Given the description of an element on the screen output the (x, y) to click on. 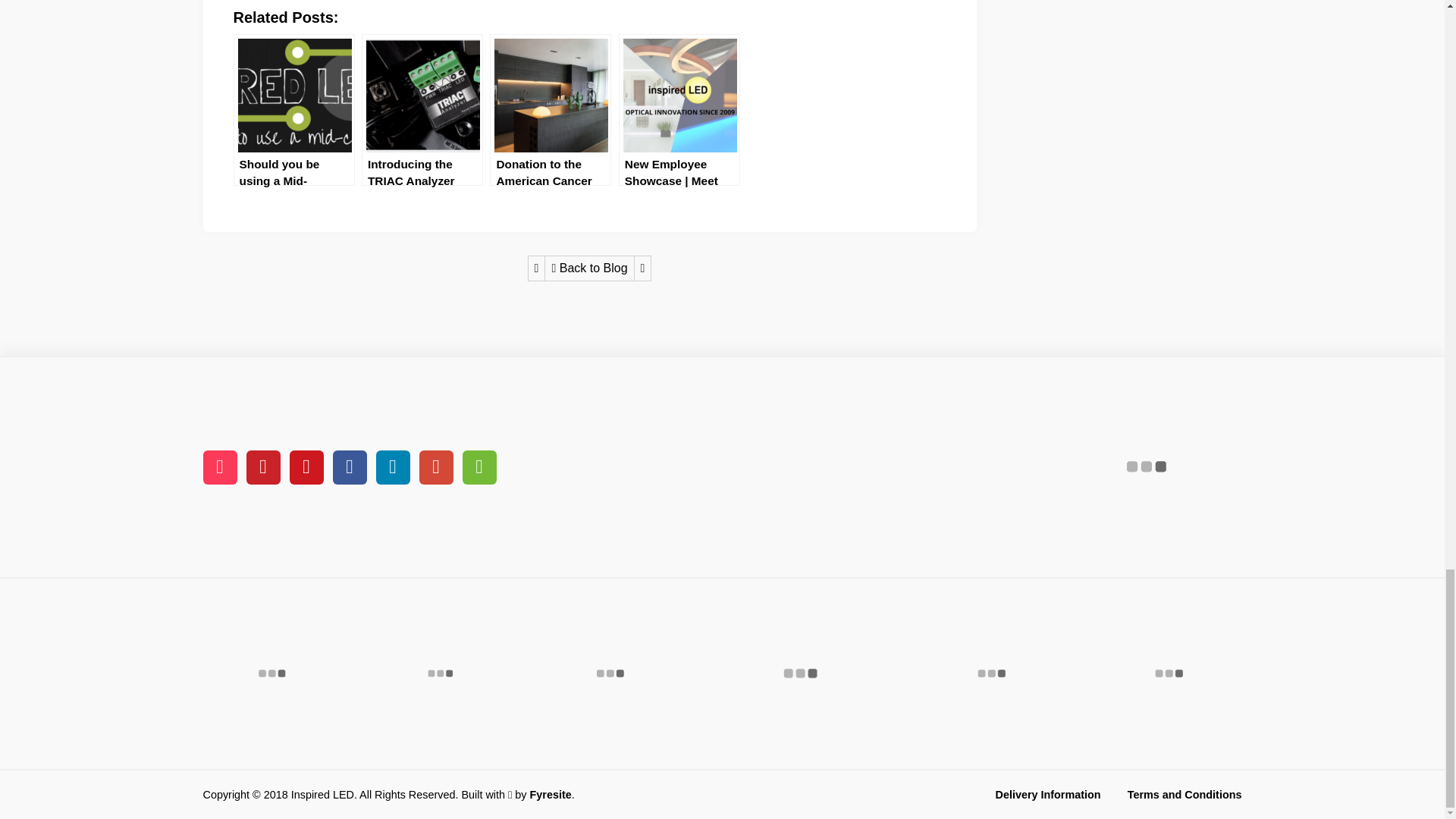
instagram (220, 467)
payments accepted (1146, 466)
mouser-electronics-logo (272, 673)
twitter (392, 467)
anixter logo (610, 673)
pinterest (262, 467)
google plus (435, 467)
facebook (348, 467)
houzz (479, 467)
CED logo (440, 673)
Back to Blog (588, 268)
youtube (306, 467)
